Given the description of an element on the screen output the (x, y) to click on. 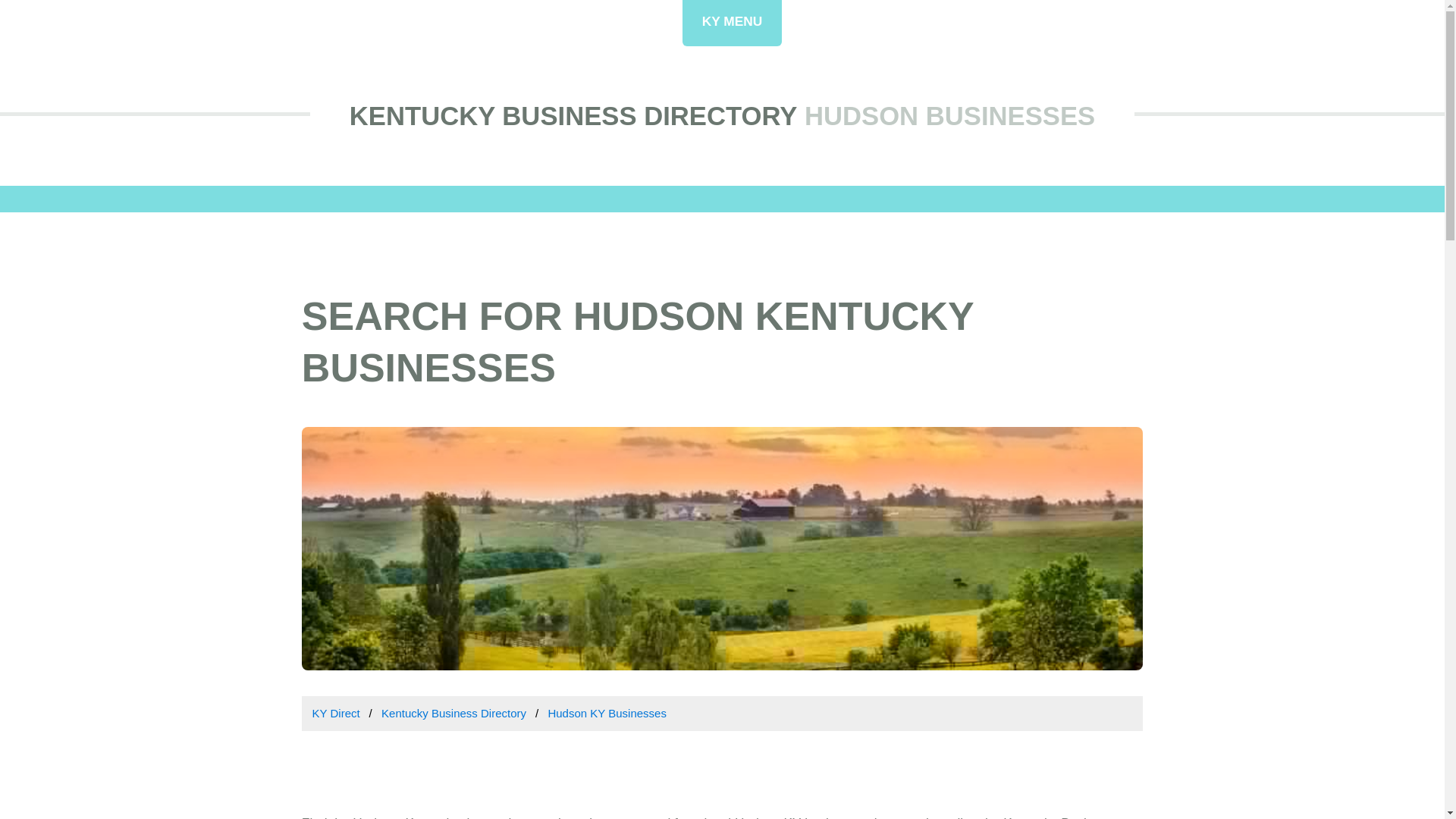
KENTUCKY BUSINESS DIRECTORY (573, 115)
KY MENU (732, 22)
Kentucky Business Directory (453, 712)
KY Direct (336, 712)
Hudson KY Businesses (606, 712)
